Given the description of an element on the screen output the (x, y) to click on. 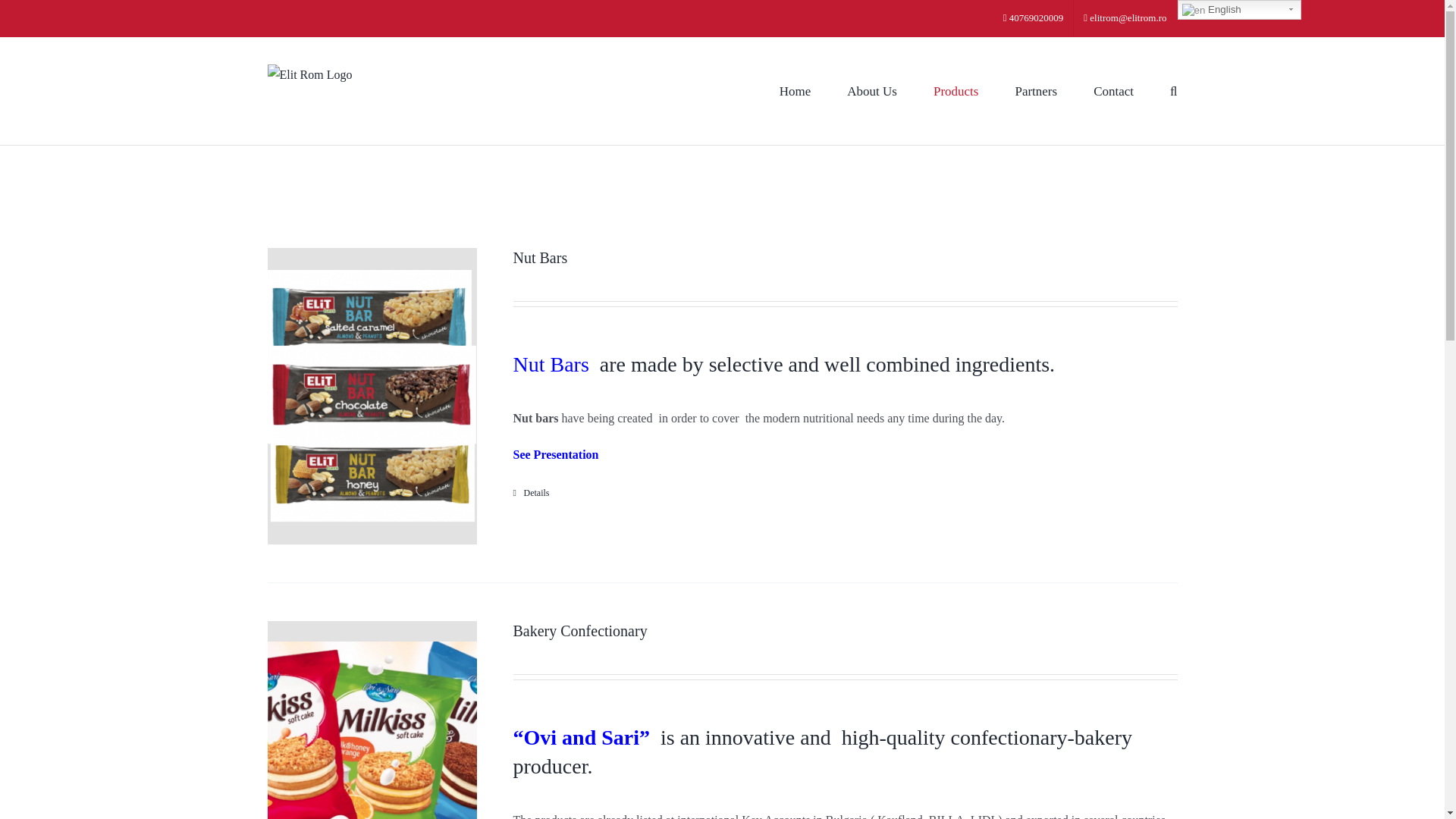
English (1238, 9)
40769020009 (1033, 18)
